Given the description of an element on the screen output the (x, y) to click on. 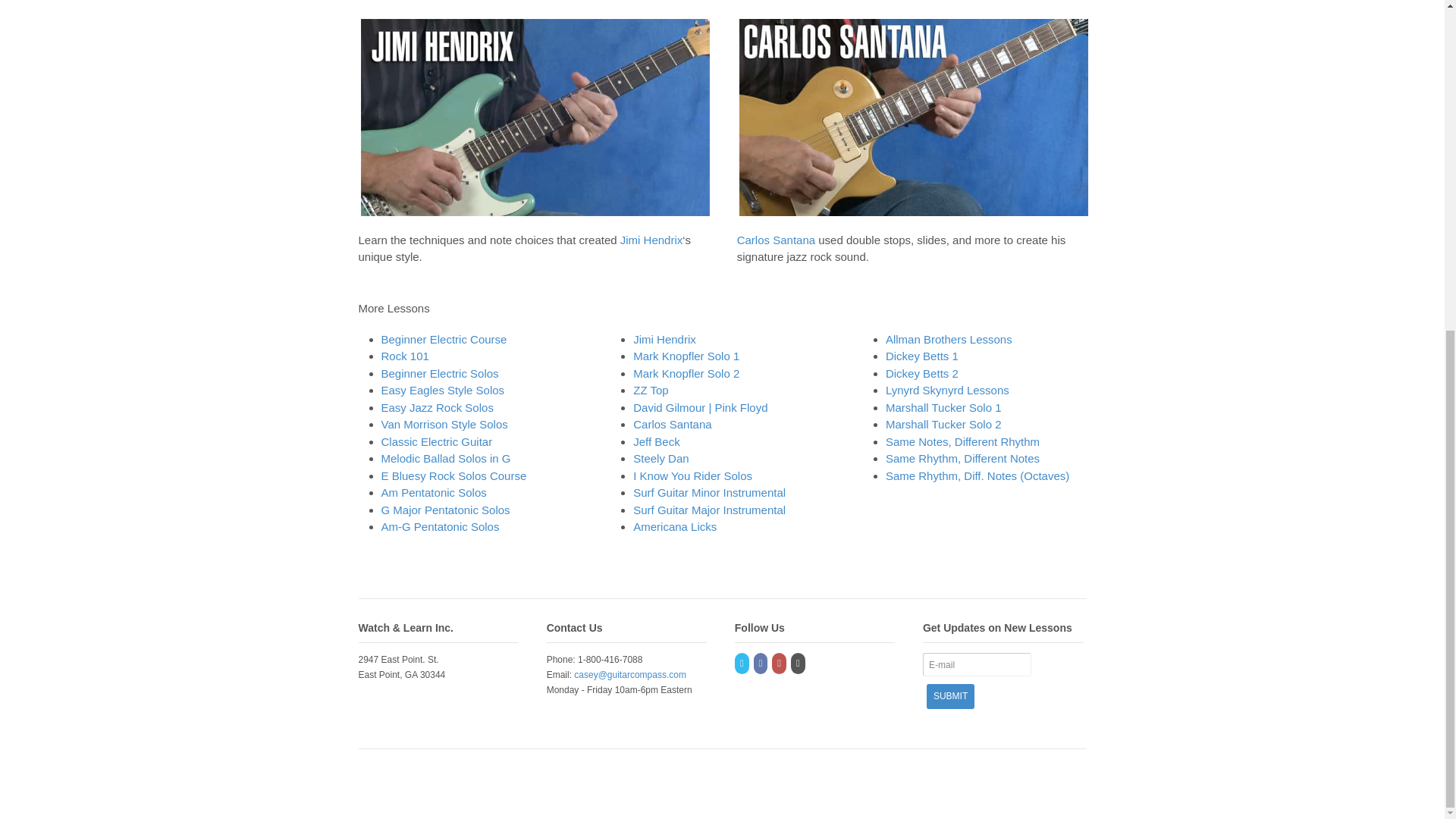
Jimi Hendrix (651, 239)
E-mail (976, 663)
Carlos Santana (775, 239)
Submit (950, 696)
YouTube (779, 663)
Facebook (762, 663)
Twitter (743, 663)
Beginner Electric Course (443, 338)
